Given the description of an element on the screen output the (x, y) to click on. 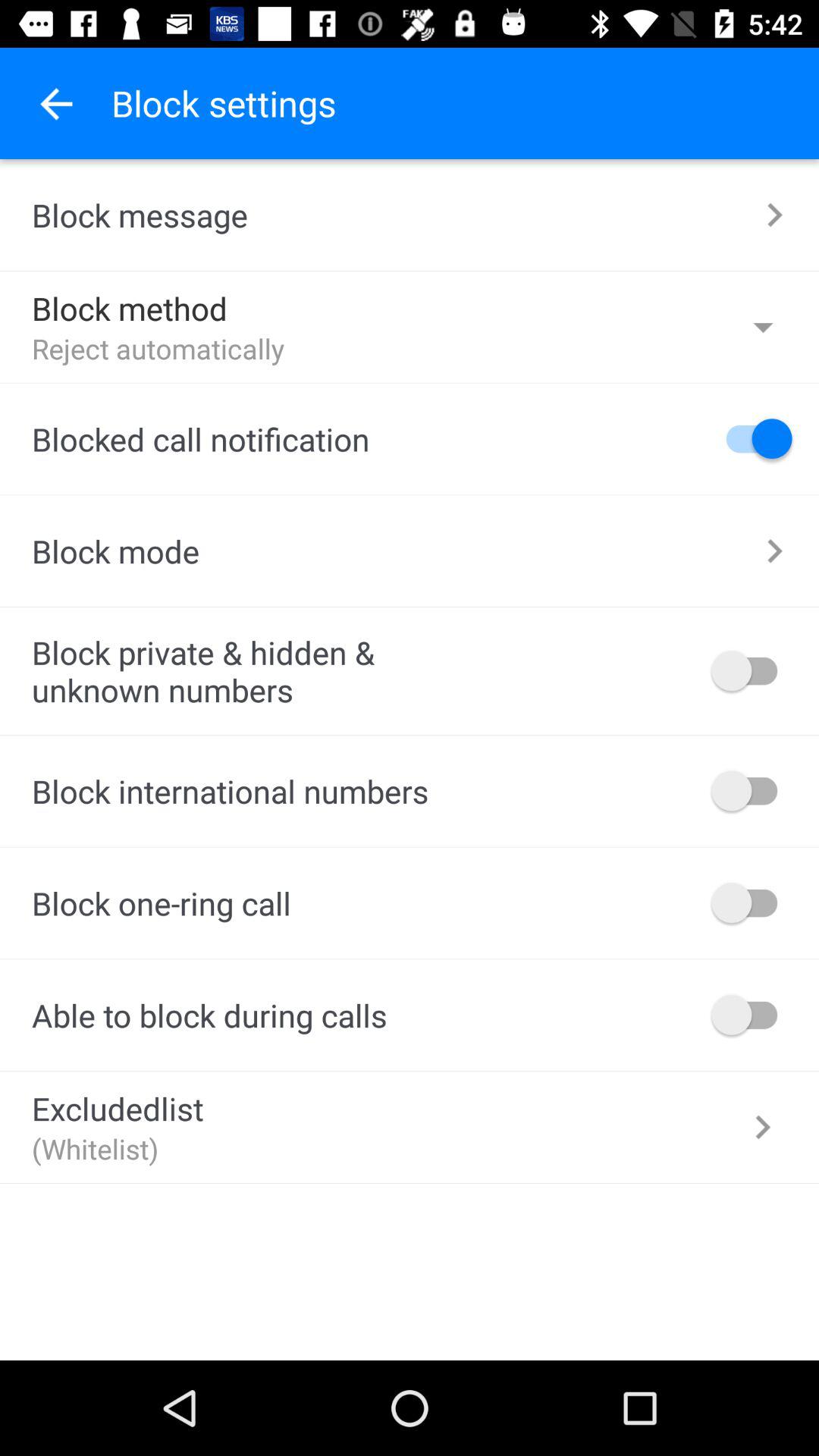
enable an option (751, 902)
